Given the description of an element on the screen output the (x, y) to click on. 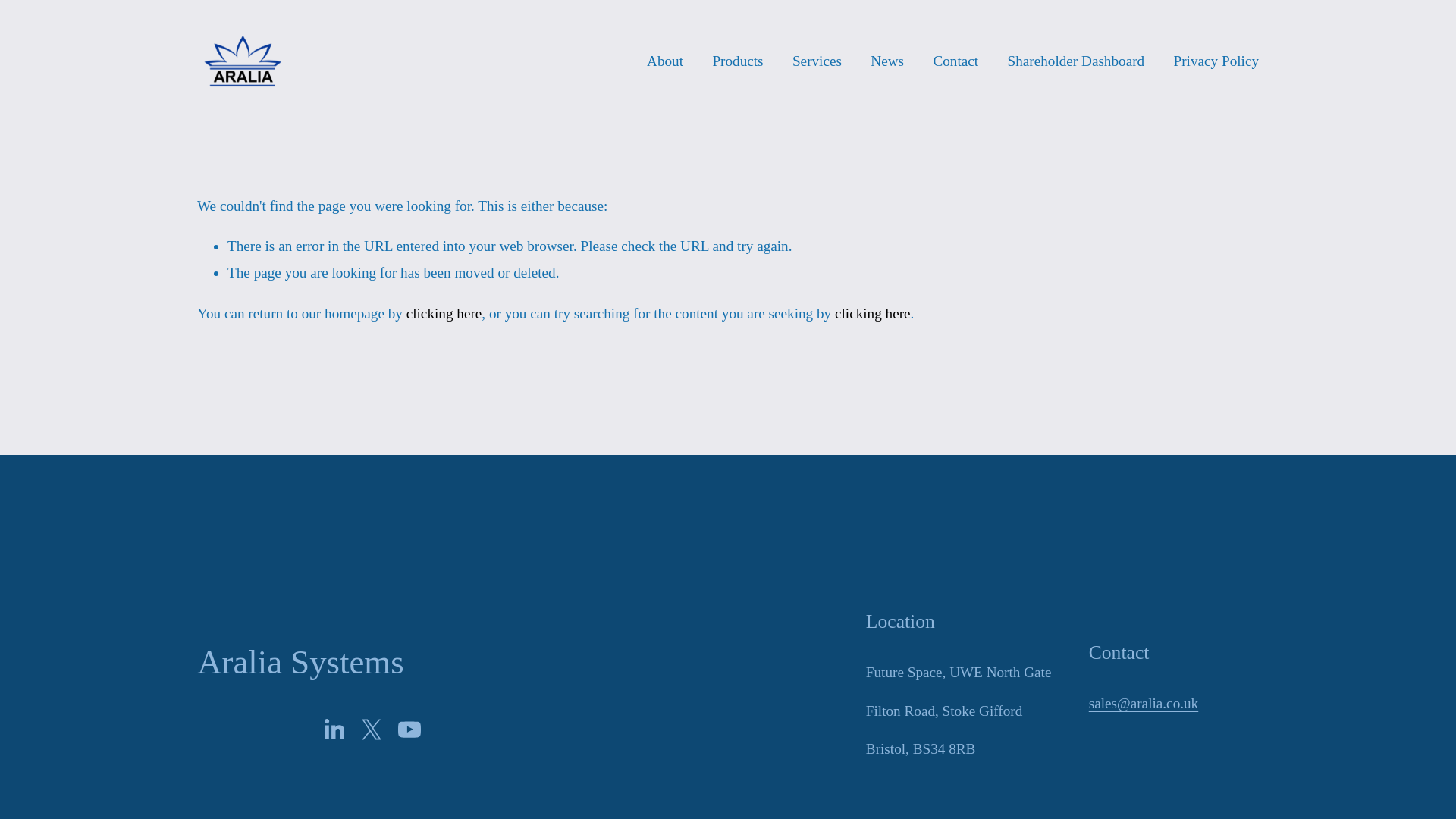
Privacy Policy (1216, 61)
About (664, 61)
News (887, 61)
Services (816, 61)
Products (736, 61)
Contact (955, 61)
Shareholder Dashboard (1075, 61)
clicking here (443, 313)
clicking here (872, 313)
